Given the description of an element on the screen output the (x, y) to click on. 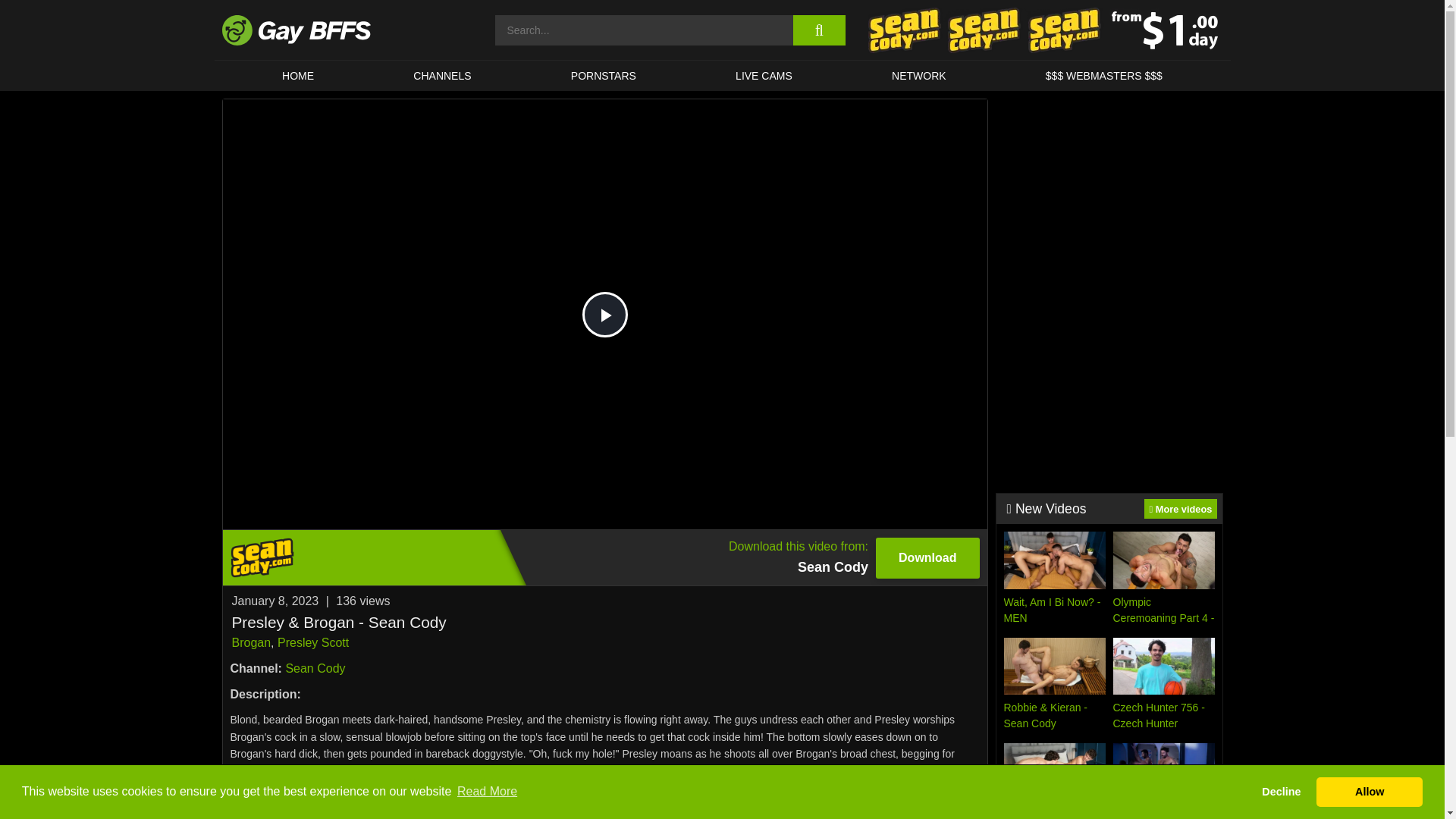
CHANNELS (442, 75)
PORNSTARS (603, 75)
Play Video (604, 313)
NETWORK (918, 75)
LIVE CAMS (763, 75)
Play Video (604, 313)
HOME (296, 75)
Presley Scott (313, 642)
Brogan (250, 642)
